Given the description of an element on the screen output the (x, y) to click on. 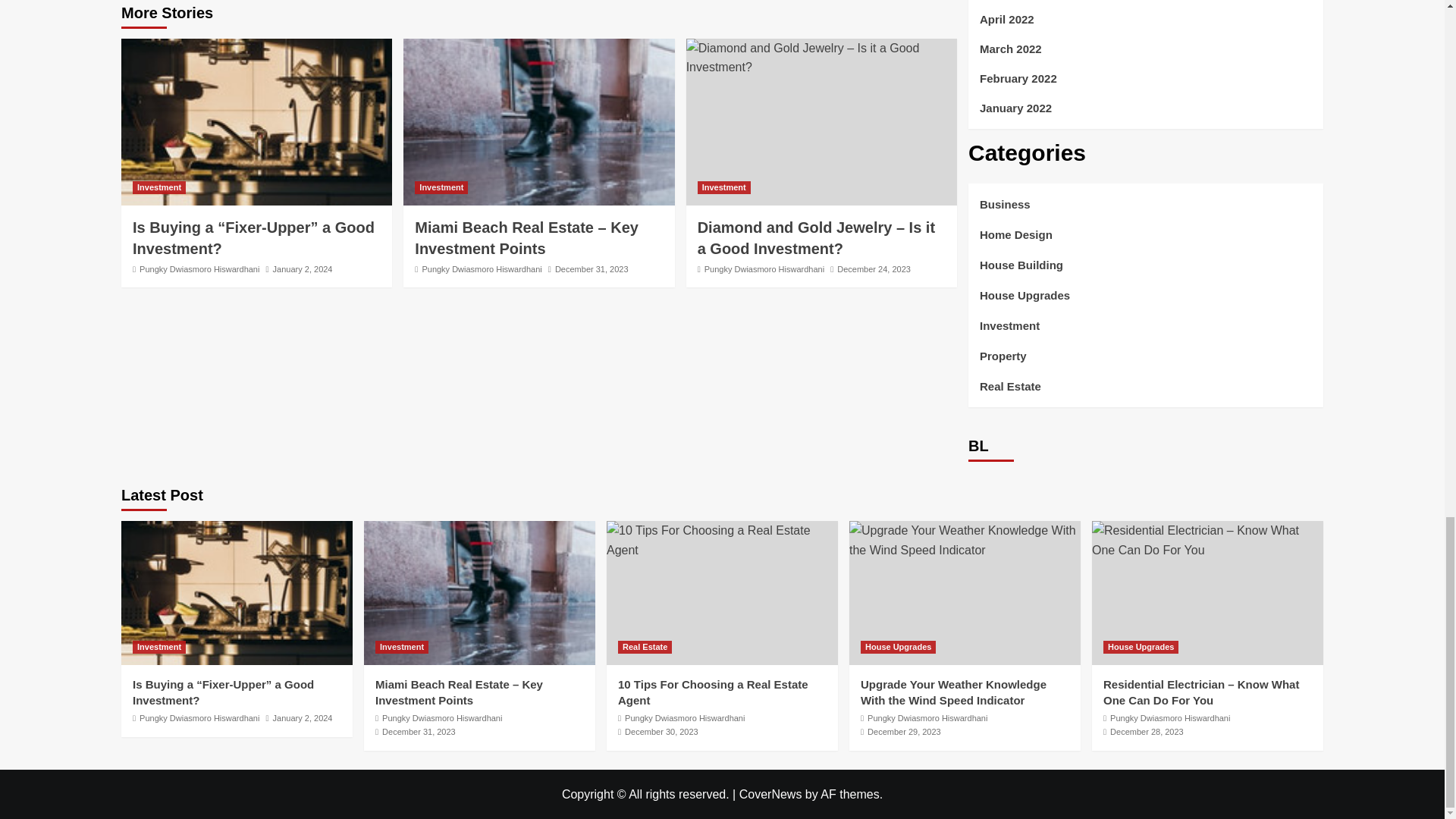
Pungky Dwiasmoro Hiswardhani (199, 268)
Investment (440, 187)
Investment (724, 187)
10 Tips For Choosing a Real Estate Agent (722, 539)
January 2, 2024 (303, 268)
Upgrade Your Weather Knowledge With the Wind Speed Indicator (964, 539)
Investment (159, 187)
Pungky Dwiasmoro Hiswardhani (481, 268)
Pungky Dwiasmoro Hiswardhani (764, 268)
December 24, 2023 (874, 268)
